Given the description of an element on the screen output the (x, y) to click on. 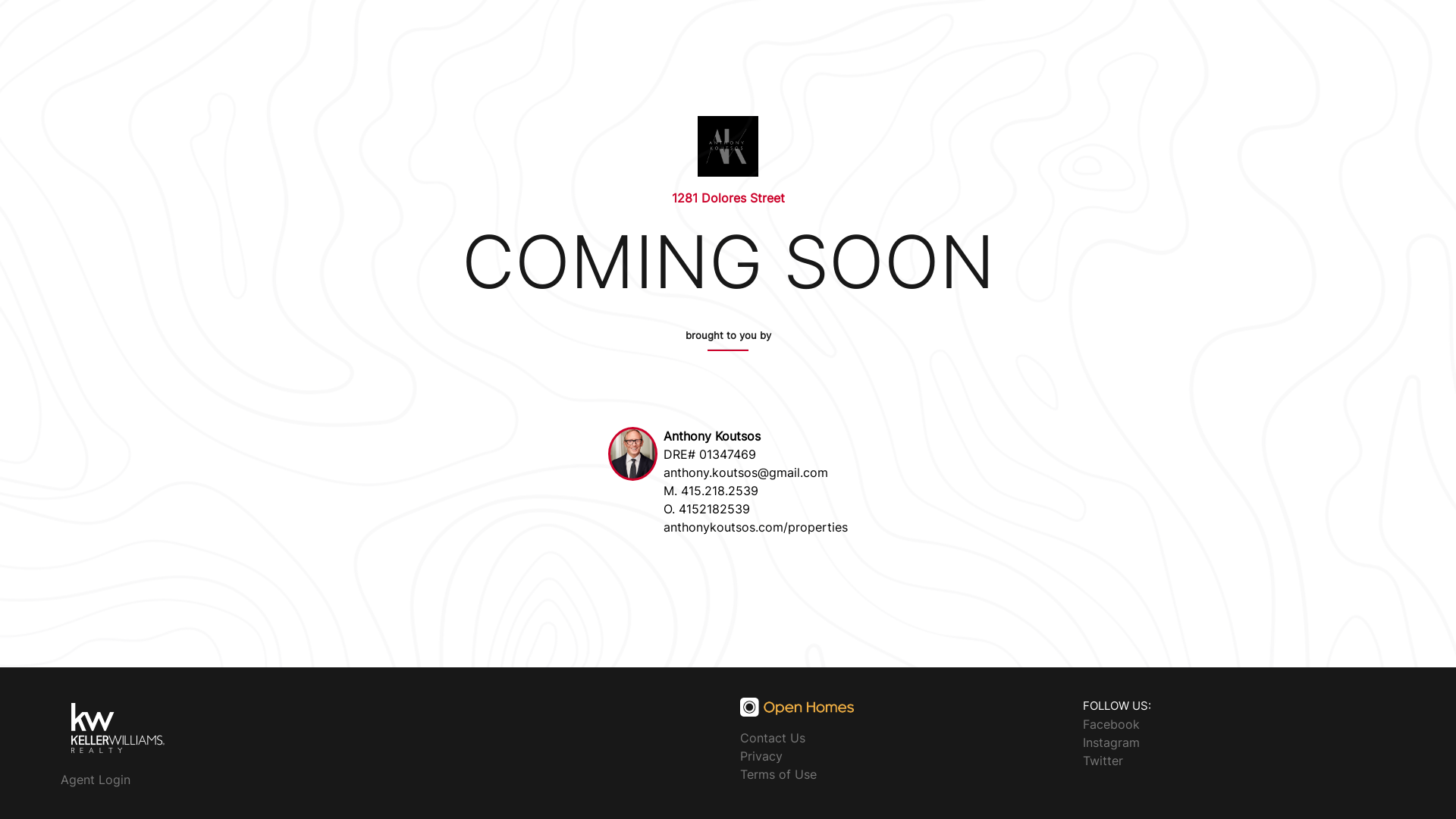
4152182539 Element type: text (713, 508)
Privacy Element type: text (761, 755)
Instagram Element type: text (1110, 741)
Twitter Element type: text (1102, 759)
anthonykoutsos.com/properties Element type: text (755, 526)
415.218.2539 Element type: text (719, 490)
anthony.koutsos@gmail.com Element type: text (745, 472)
Contact Us Element type: text (772, 737)
Facebook Element type: text (1110, 723)
Agent Login Element type: text (95, 779)
Terms of Use Element type: text (778, 773)
